Given the description of an element on the screen output the (x, y) to click on. 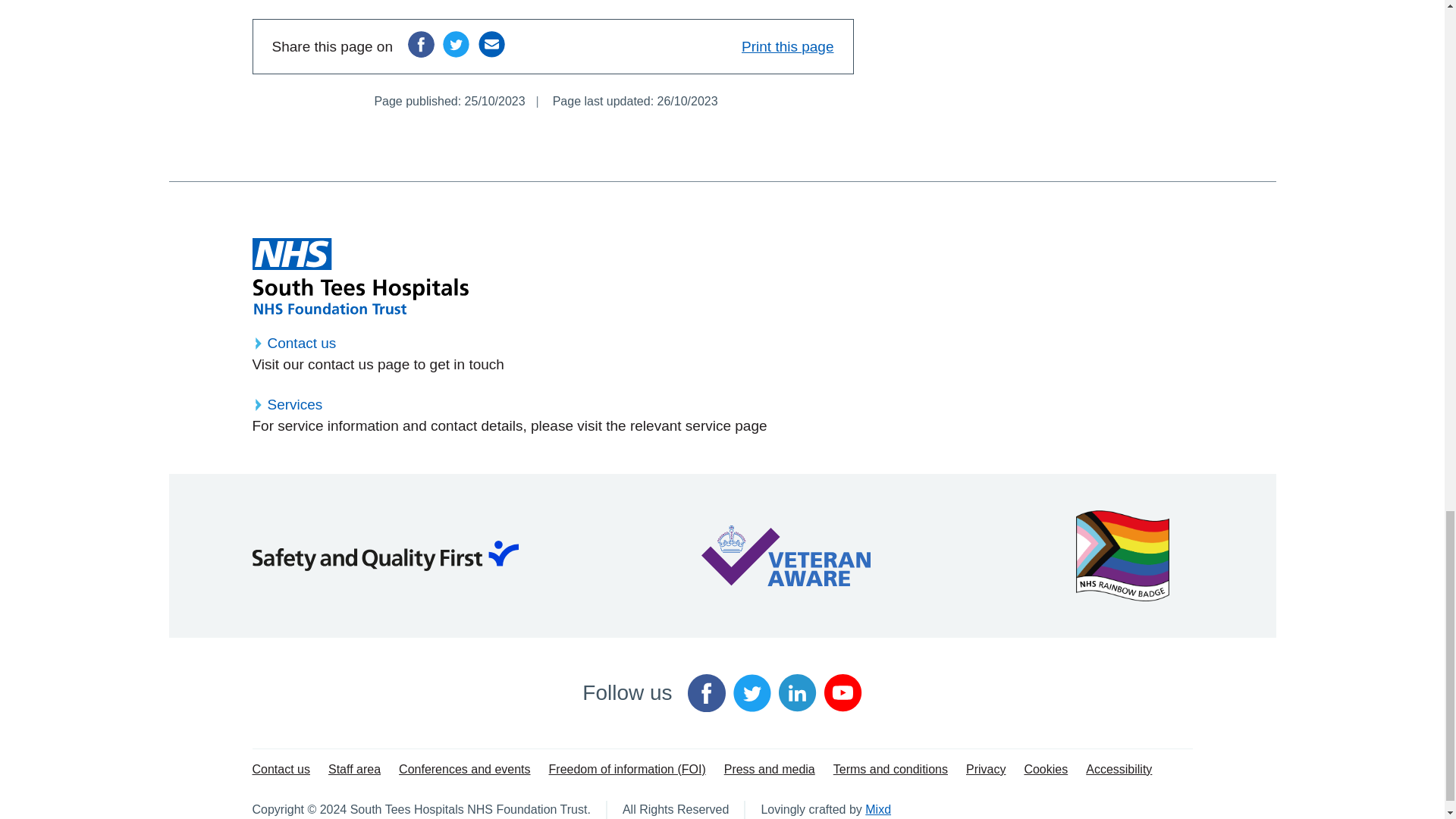
South Tees Hospitals NHS Foundation Trust Homepage (359, 276)
Share on Facebook (420, 44)
Share on Twitter (455, 44)
Share via Email (492, 44)
